Given the description of an element on the screen output the (x, y) to click on. 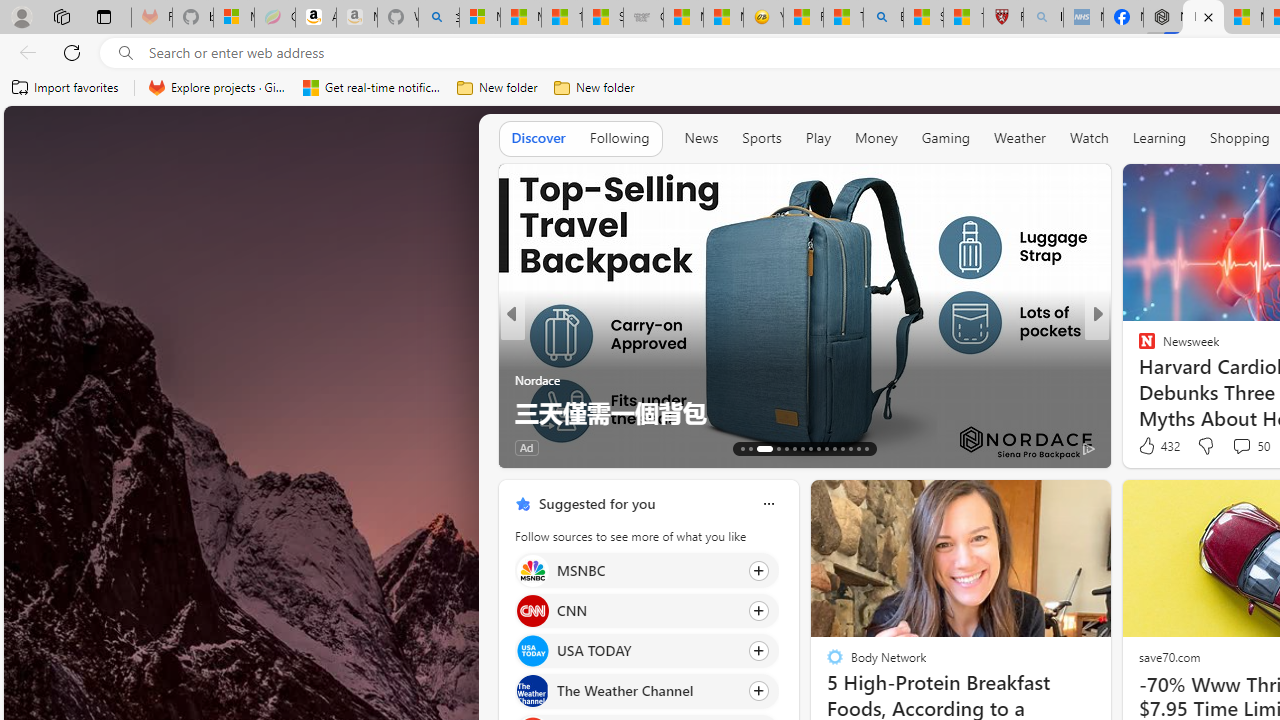
AutomationID: tab-73 (810, 448)
INSIDER (1138, 347)
eBaum's World (1138, 347)
Watch (1089, 138)
View comments 30 Comment (11, 447)
View comments 64 Comment (11, 447)
MSNBC (532, 569)
AutomationID: tab-68 (757, 448)
Click to follow source The Weather Channel (646, 691)
Bored Panda (1138, 380)
Robert H. Shmerling, MD - Harvard Health (1003, 17)
The Motley Fool (1138, 347)
Bing (883, 17)
